Given the description of an element on the screen output the (x, y) to click on. 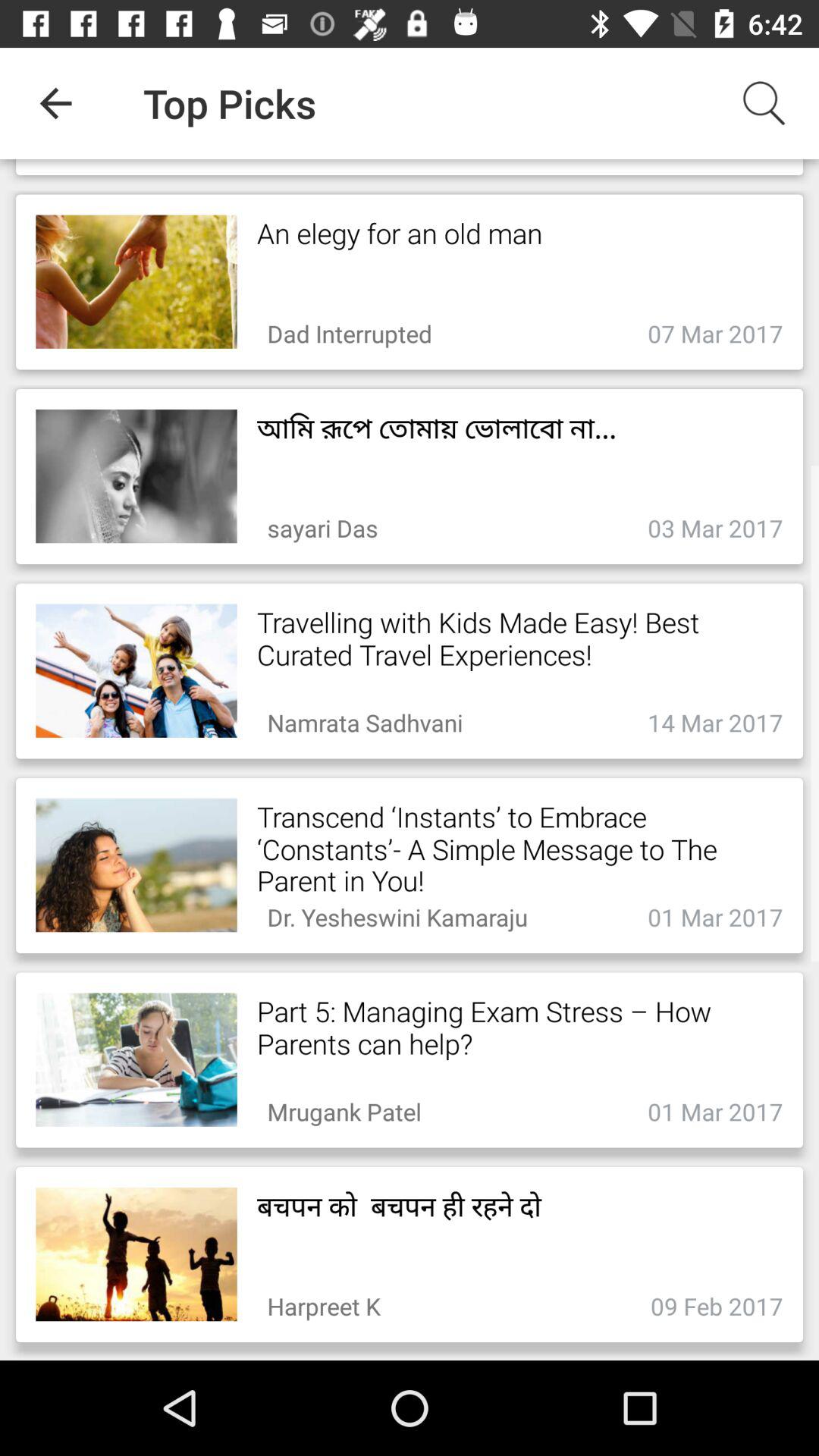
scroll to sayari das (322, 523)
